Given the description of an element on the screen output the (x, y) to click on. 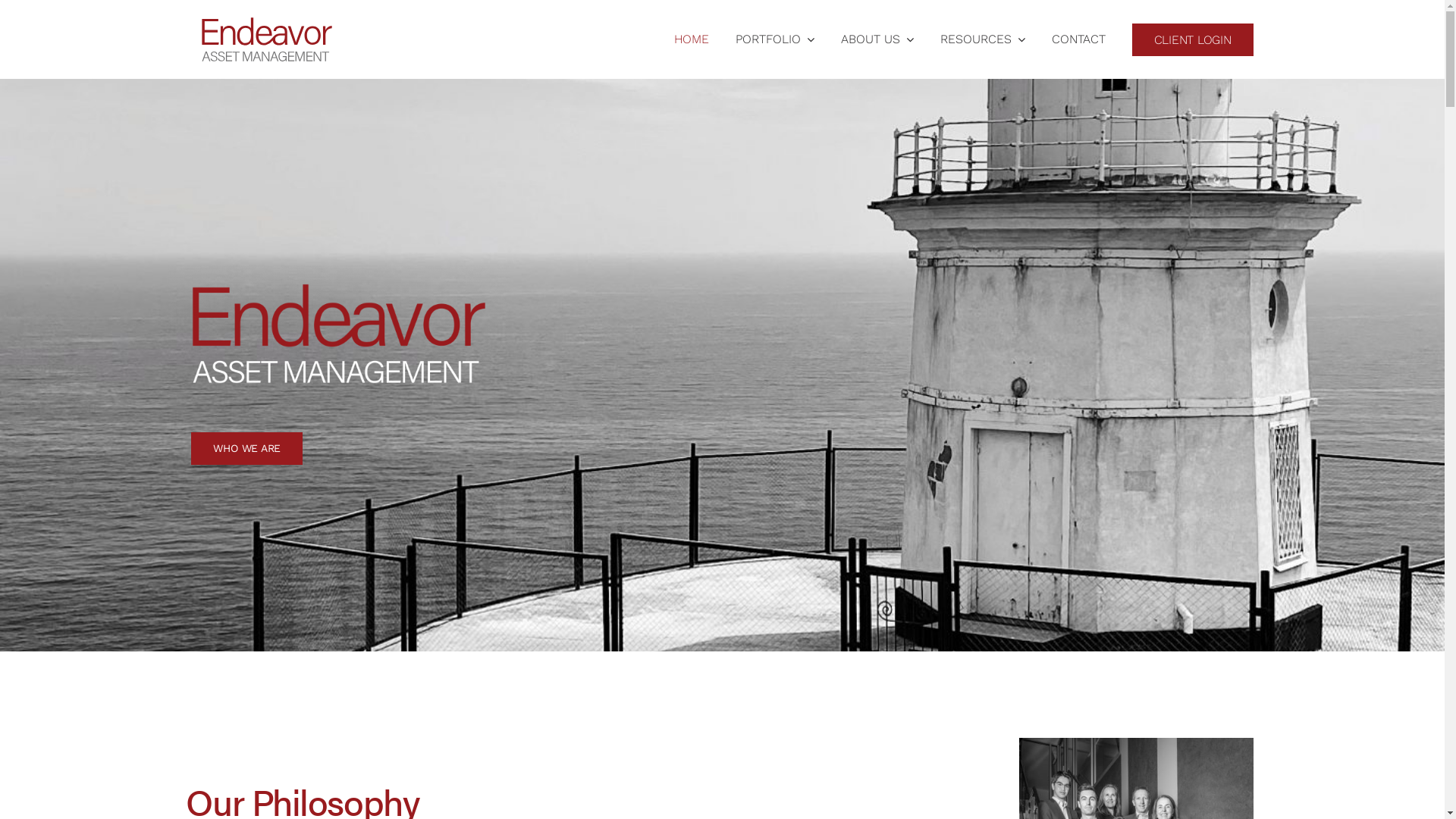
CONTACT Element type: text (1078, 39)
ABOUT US Element type: text (876, 39)
WHO WE ARE Element type: text (246, 448)
Endeavor Branding-06 Element type: hover (338, 333)
RESOURCES Element type: text (982, 39)
CLIENT LOGIN Element type: text (1192, 39)
PORTFOLIO Element type: text (774, 39)
HOME Element type: text (691, 39)
